Given the description of an element on the screen output the (x, y) to click on. 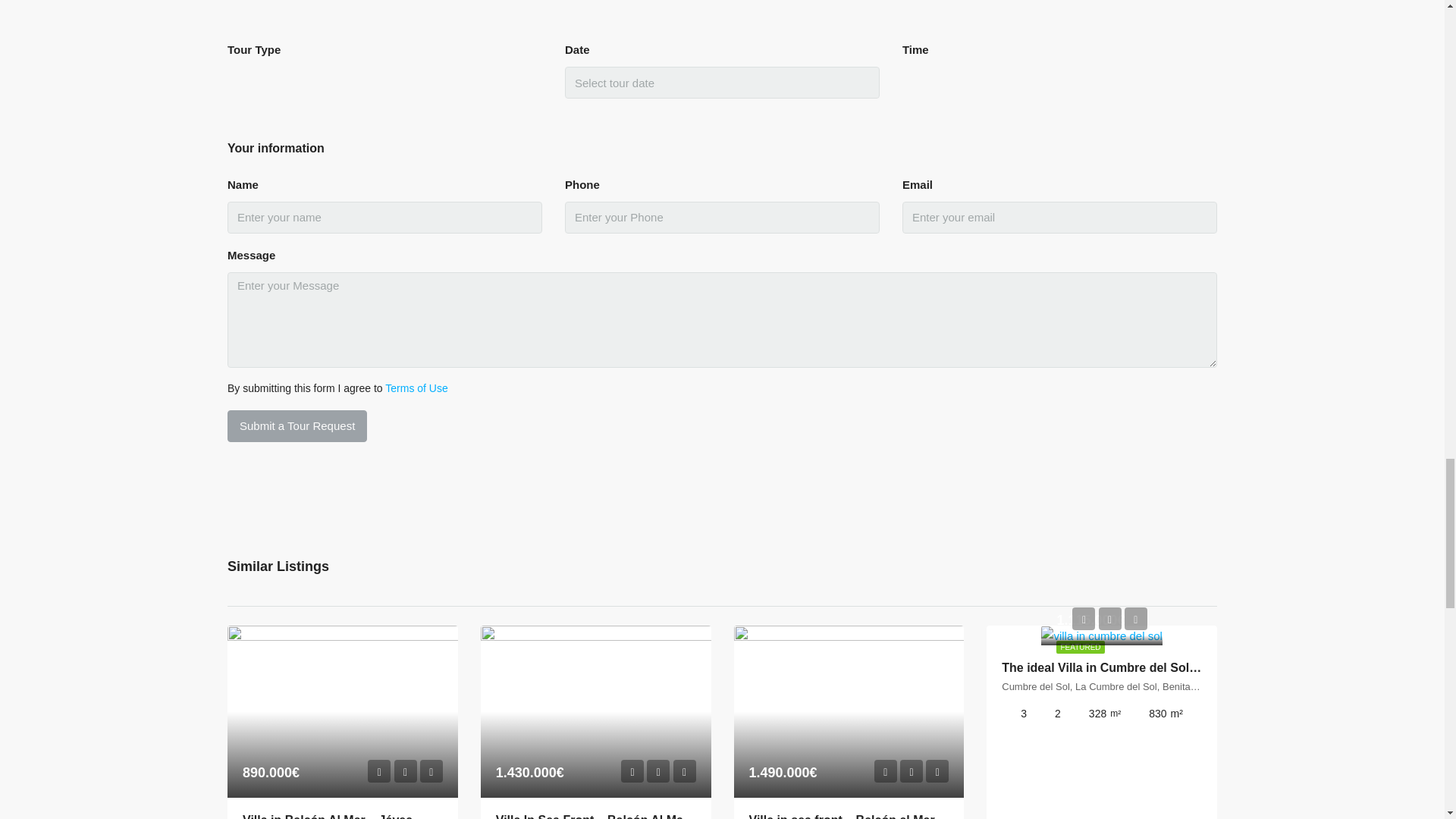
Add to Compare (937, 771)
Favourite (911, 771)
Favourite (405, 771)
Preview (632, 771)
Add to Compare (683, 771)
Preview (379, 771)
Preview (1082, 618)
Favourite (657, 771)
Add to Compare (431, 771)
Preview (885, 771)
